Given the description of an element on the screen output the (x, y) to click on. 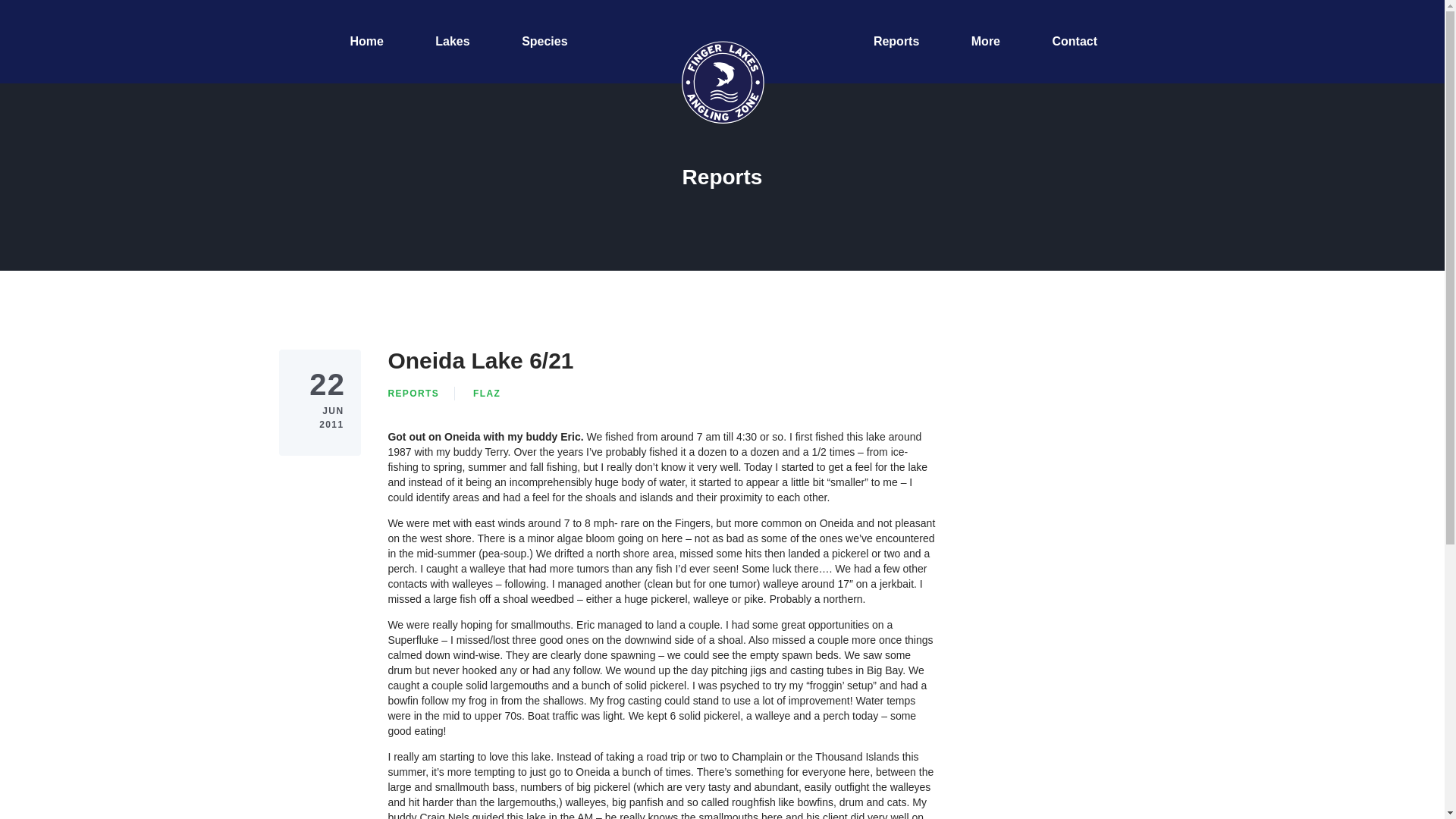
FLAZ (486, 393)
Finger Lakes Angling Zone (722, 81)
Contact (1074, 41)
Reports (895, 41)
Species (544, 41)
Home (365, 41)
More (986, 41)
Lakes (451, 41)
REPORTS (413, 393)
Posts by FLAZ (486, 393)
